Given the description of an element on the screen output the (x, y) to click on. 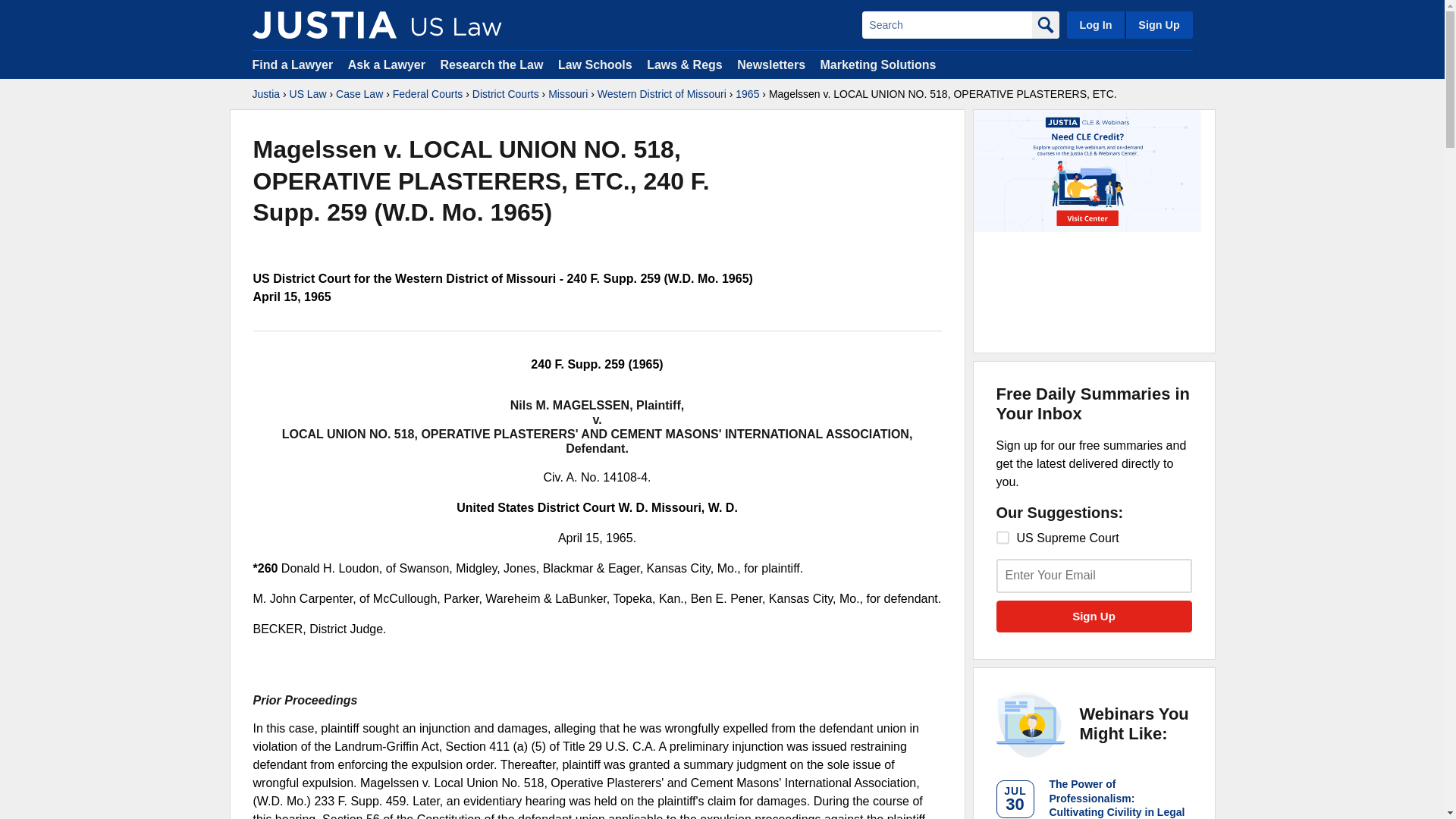
Research the Law (491, 64)
Sign Up (1093, 616)
Sign Up (1158, 24)
US Law (307, 93)
14 (1002, 536)
Missouri (568, 93)
1965 (746, 93)
Enter email (1093, 575)
Justia (265, 93)
Search (945, 24)
Law Schools (594, 64)
Justia (323, 24)
Log In (1094, 24)
Marketing Solutions (877, 64)
Find a Lawyer (292, 64)
